Given the description of an element on the screen output the (x, y) to click on. 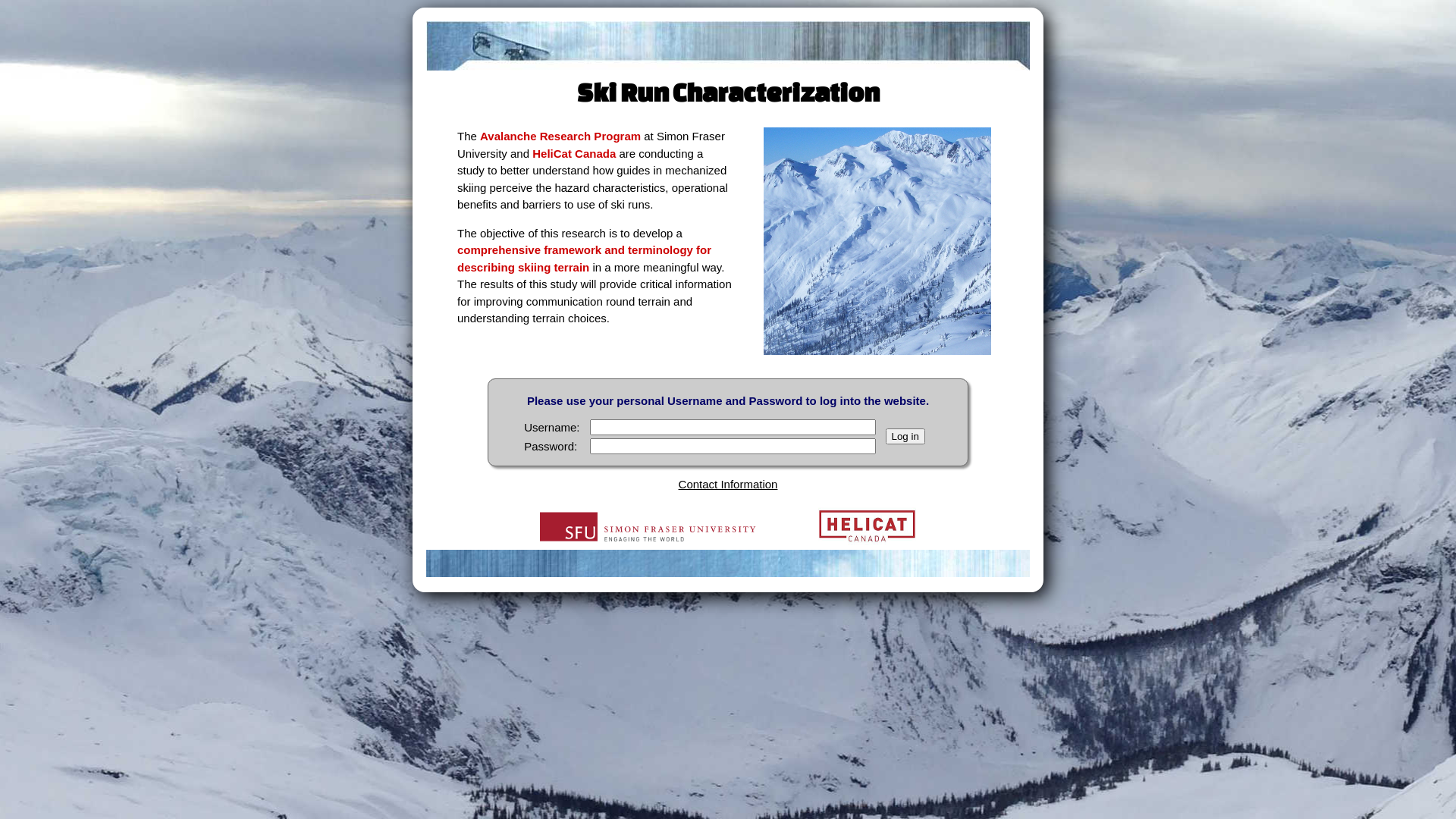
Log in Element type: text (905, 436)
Contact Information Element type: text (728, 483)
